Given the description of an element on the screen output the (x, y) to click on. 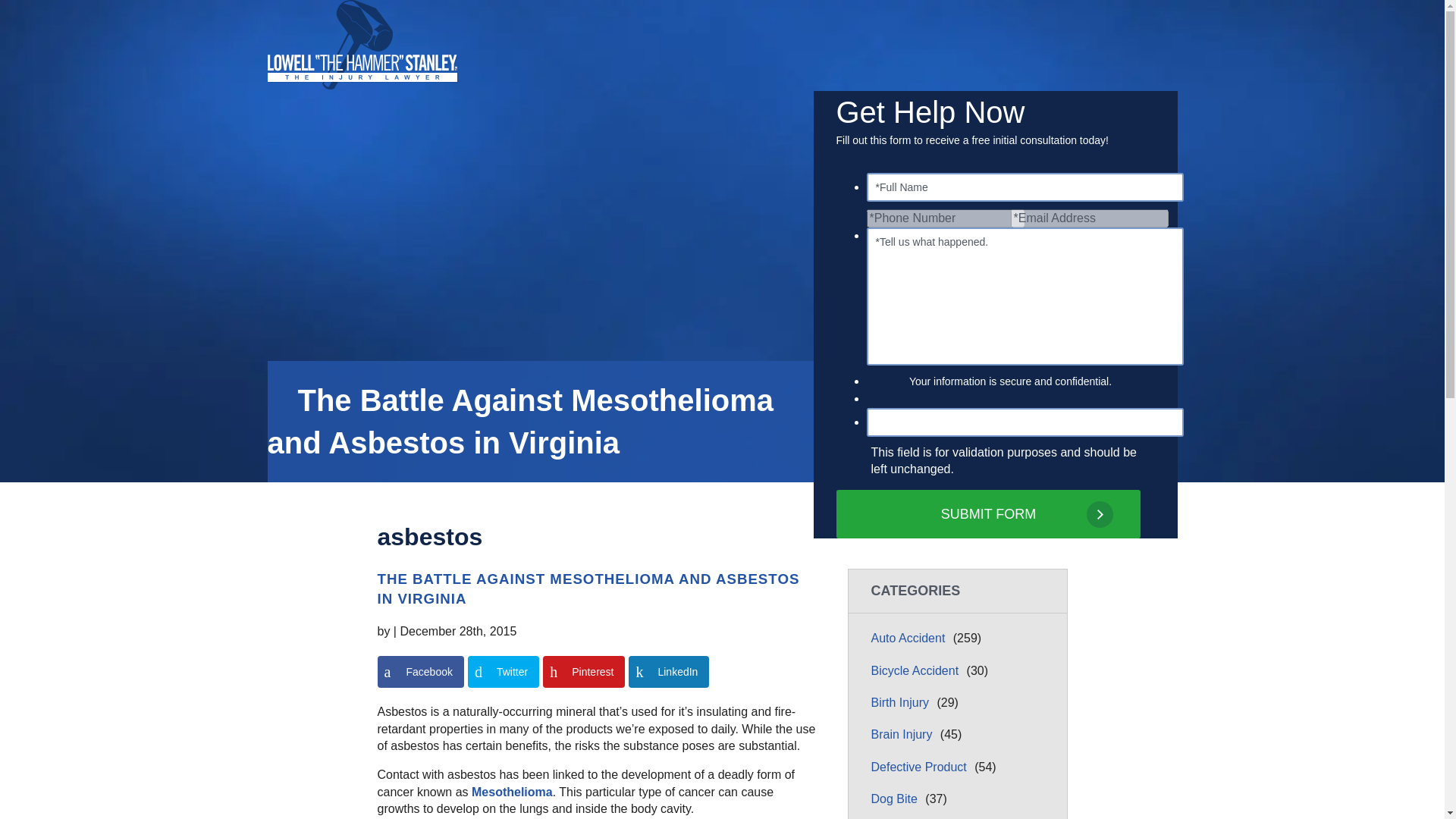
Pinterest (583, 671)
Mesothelioma (512, 791)
LinkedIn (668, 671)
Facebook (420, 671)
Birth Injury (1122, 124)
Submit Form (901, 703)
Share on Facebook (987, 513)
Twitter (420, 671)
Share on Twitter (502, 671)
Share on LinkedIn (502, 671)
THE BATTLE AGAINST MESOTHELIOMA AND ASBESTOS IN VIRGINIA (668, 671)
Bicycle Accident (588, 588)
Brain Injury (916, 671)
Defective Product (903, 735)
